Given the description of an element on the screen output the (x, y) to click on. 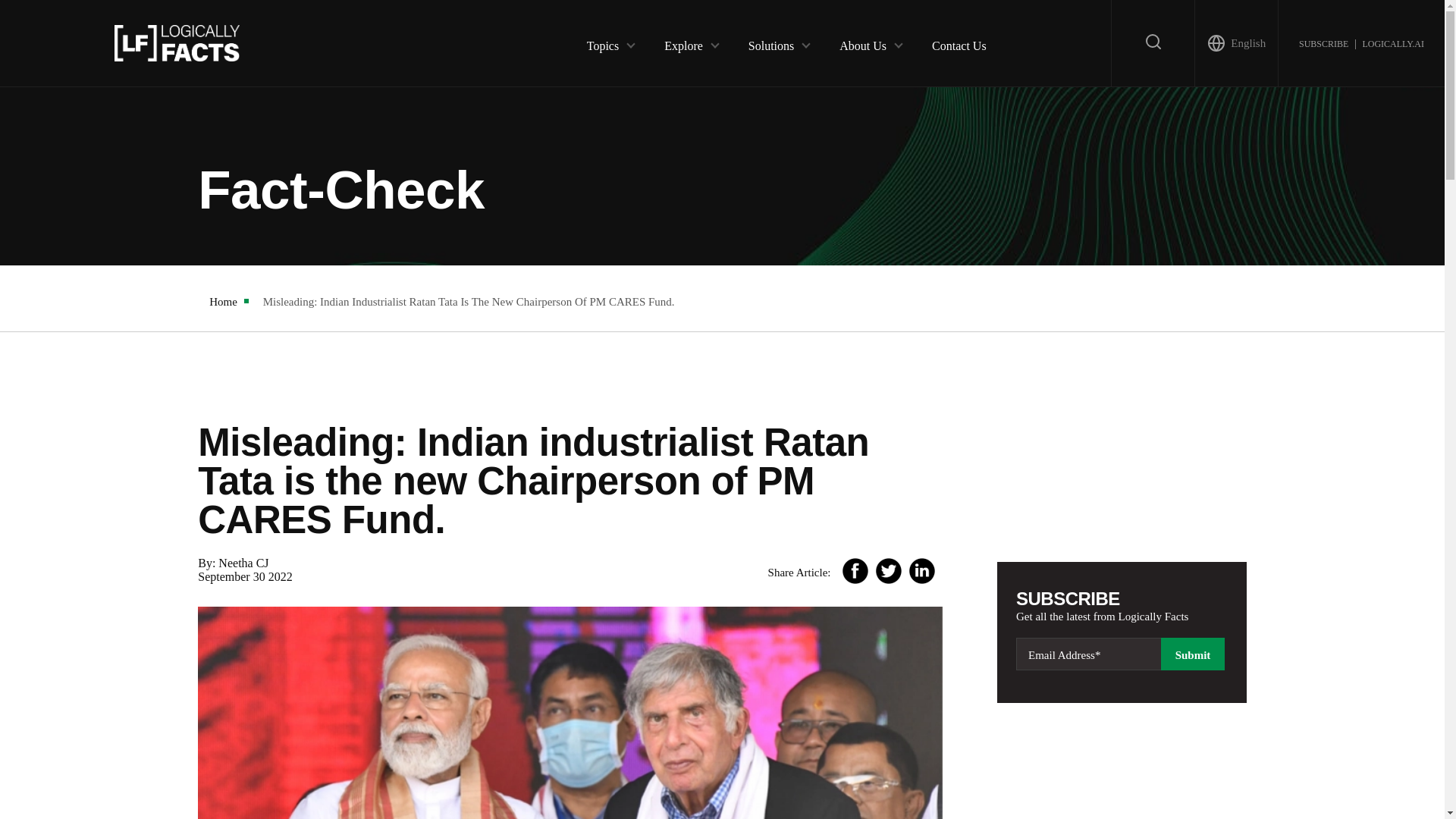
SUBSCRIBE (1323, 42)
About Us (863, 42)
Contact Us (959, 42)
Home (223, 301)
Topics (602, 42)
LOGICALLY.AI (1392, 42)
Explore (683, 42)
Solutions (770, 42)
Submit (1192, 654)
